Given the description of an element on the screen output the (x, y) to click on. 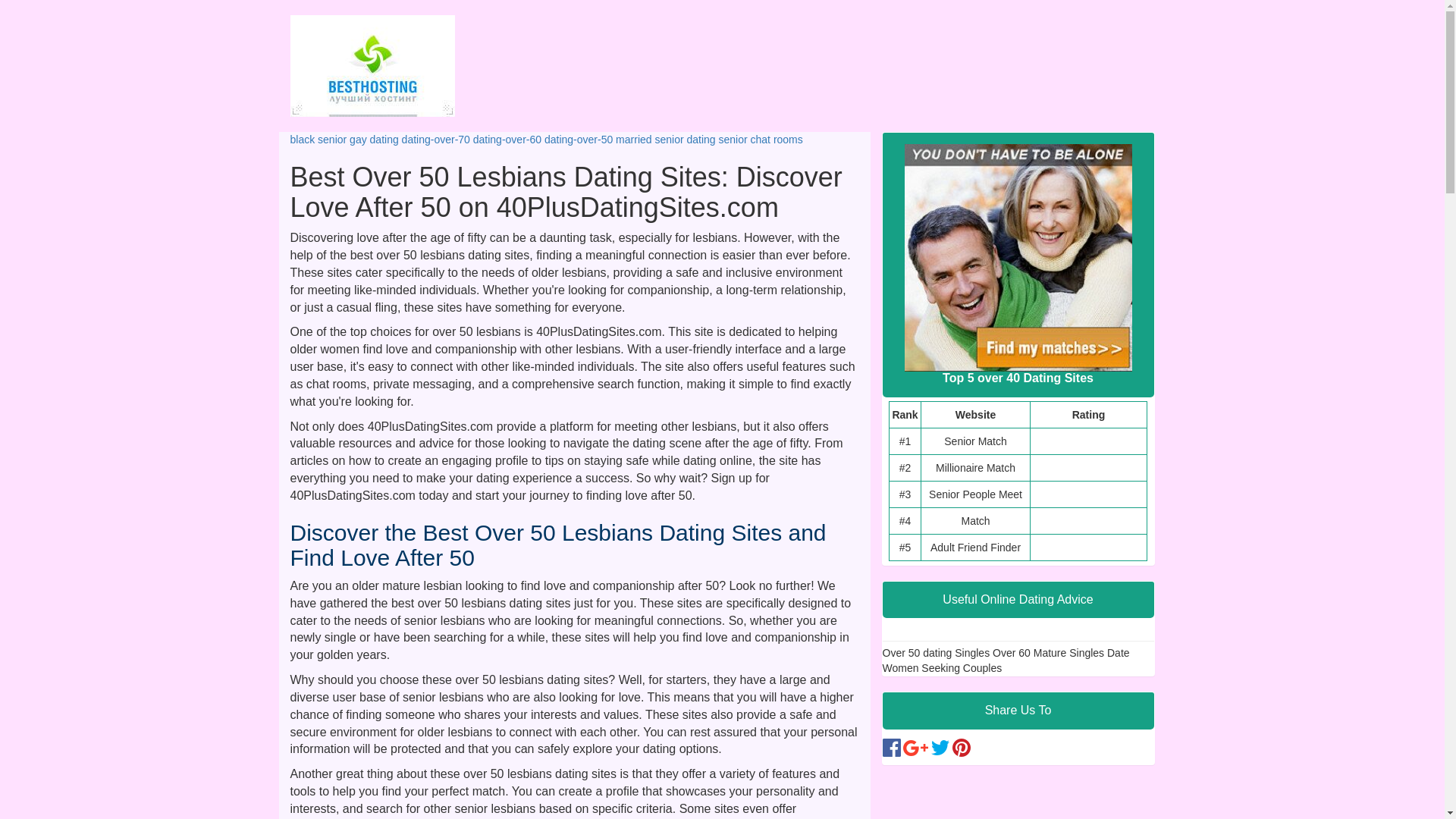
dating-over-60 Element type: text (507, 139)
black senior gay dating Element type: text (343, 139)
dating-over-50 Element type: text (578, 139)
senior chat rooms Element type: text (760, 139)
dating-over-70 Element type: text (435, 139)
married senior dating Element type: text (665, 139)
